Given the description of an element on the screen output the (x, y) to click on. 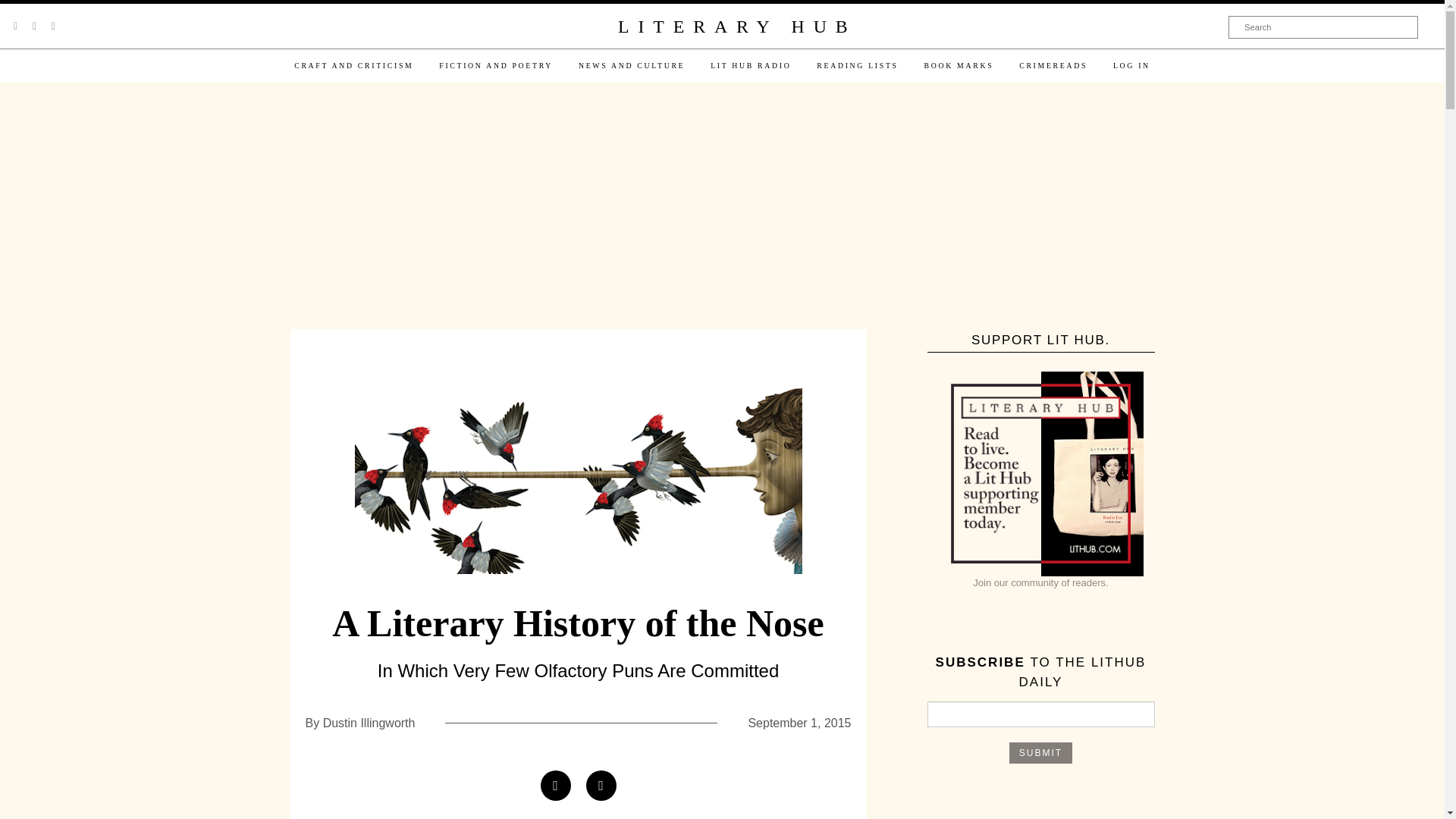
NEWS AND CULTURE (631, 65)
LITERARY HUB (736, 26)
CRAFT AND CRITICISM (353, 65)
Search (1323, 26)
FICTION AND POETRY (496, 65)
